Given the description of an element on the screen output the (x, y) to click on. 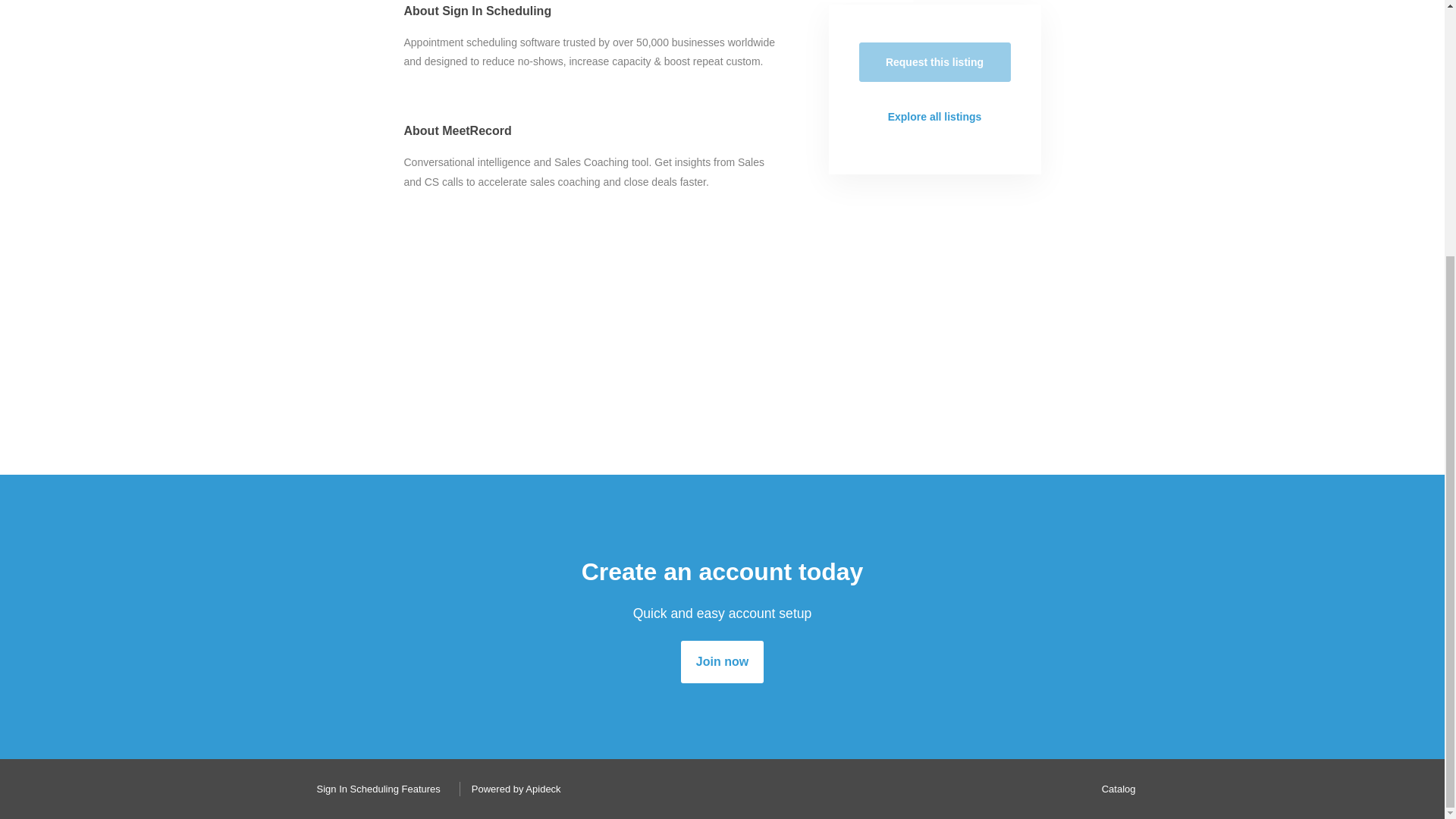
Sign In Scheduling Features (374, 789)
Request this listing (934, 61)
Explore all listings (934, 116)
Catalog (1115, 789)
Powered by Apideck (512, 789)
Join now (721, 661)
